Given the description of an element on the screen output the (x, y) to click on. 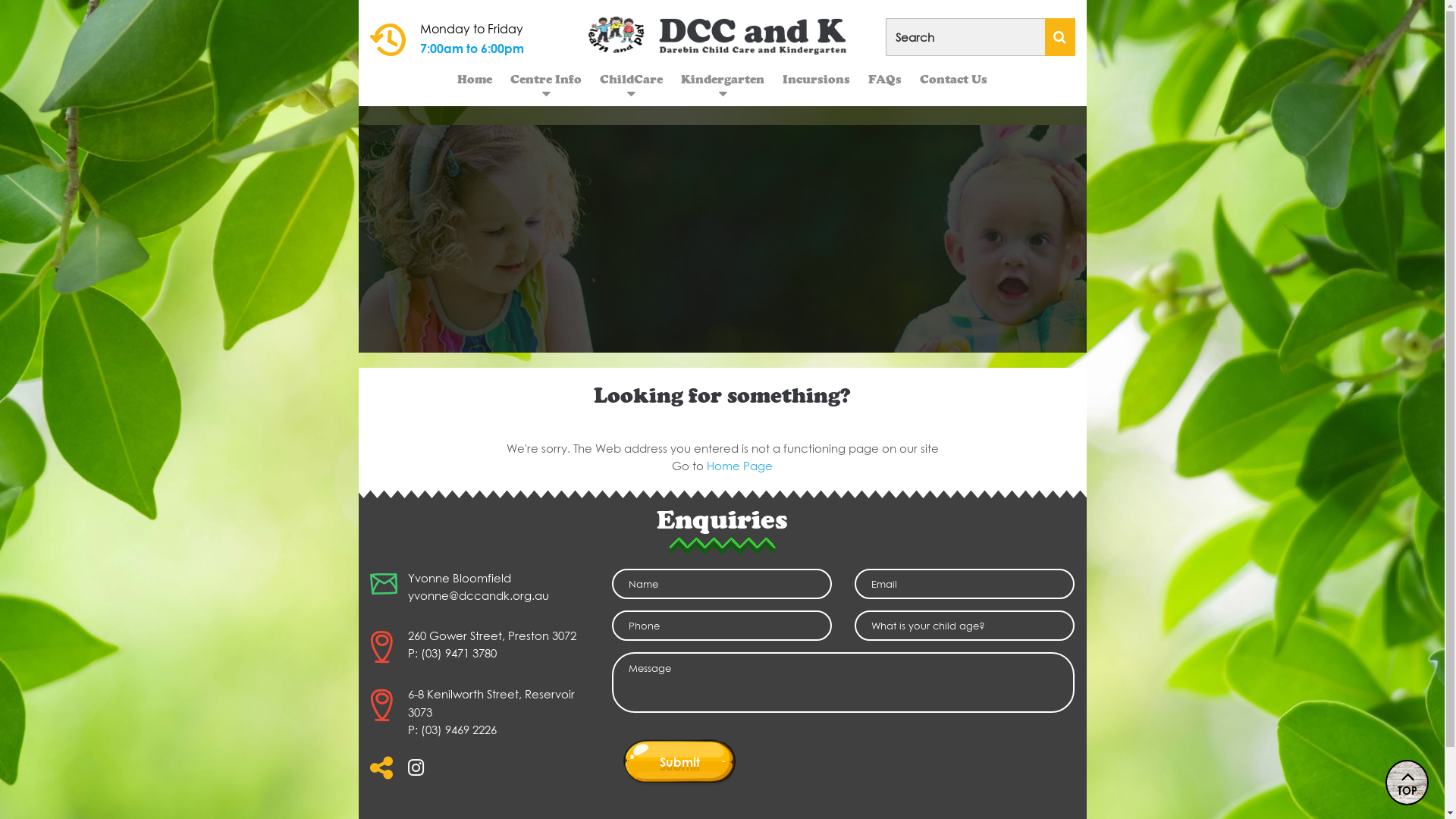
Contact Us Element type: text (953, 79)
FAQs Element type: text (884, 79)
Instagram Element type: hover (415, 771)
ChildCare Element type: text (630, 79)
Home Page Element type: text (739, 465)
Centre Info Element type: text (545, 79)
Kindergarten Element type: text (722, 79)
Home Element type: text (474, 79)
yvonne@dccandk.org.au Element type: text (478, 595)
Submit Element type: text (679, 761)
Incursions Element type: text (816, 79)
3 characters minimum Element type: hover (980, 37)
Darebin Child Care and Kindergarten Element type: hover (722, 33)
P: (03) 9471 3780 Element type: text (451, 652)
P: (03) 9469 2226 Element type: text (451, 728)
